Given the description of an element on the screen output the (x, y) to click on. 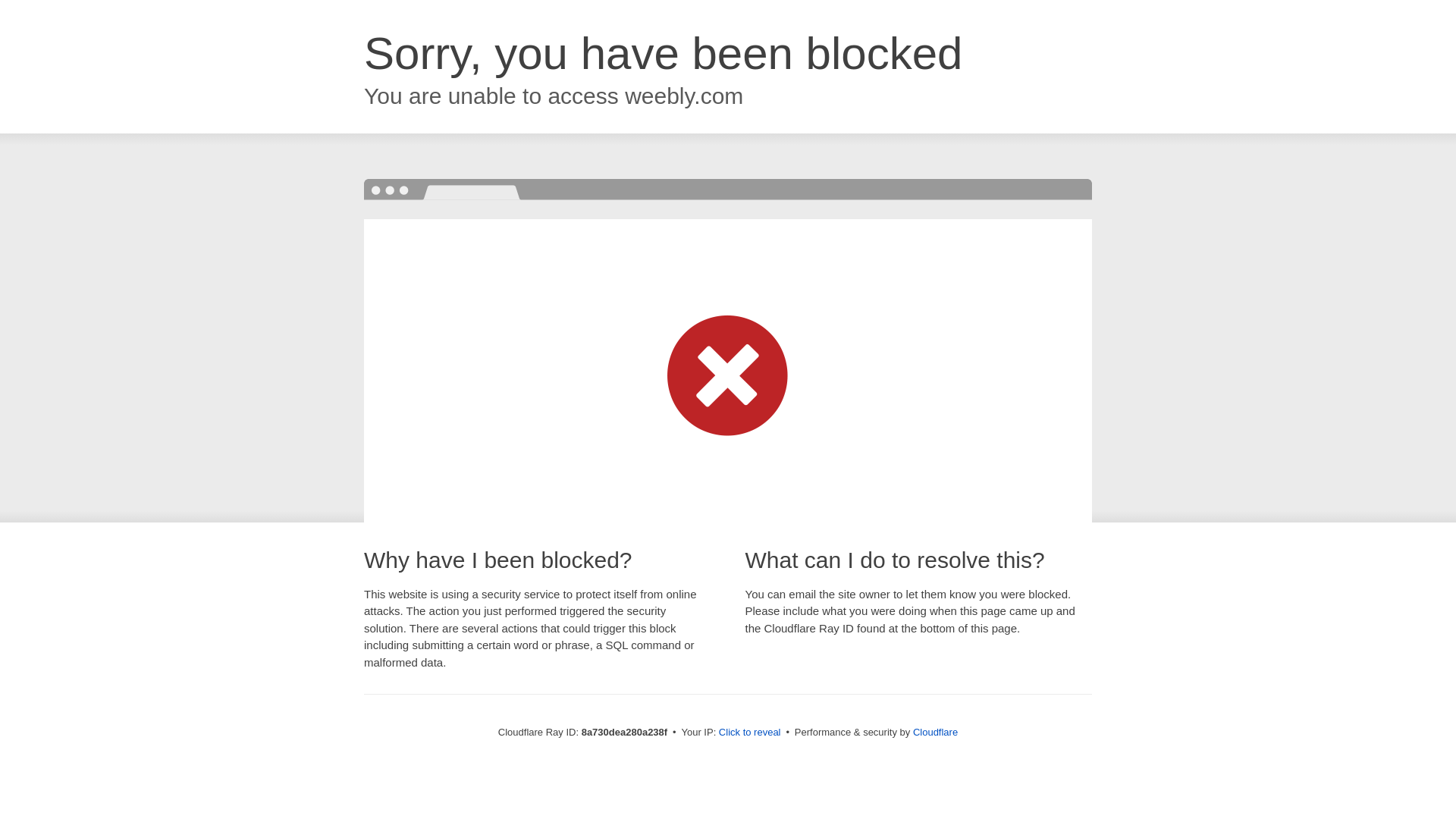
Cloudflare (935, 731)
Click to reveal (749, 732)
